Given the description of an element on the screen output the (x, y) to click on. 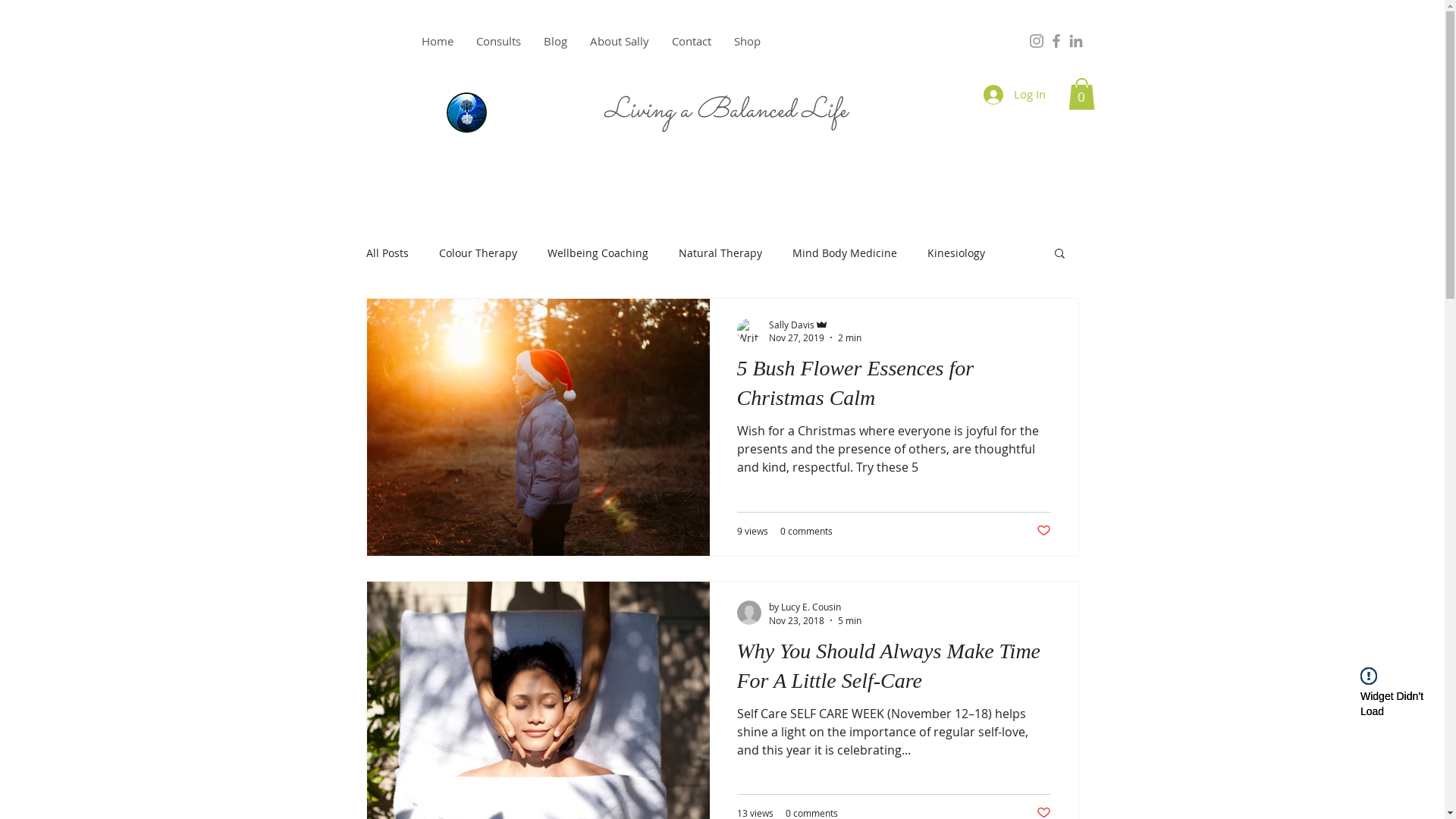
All Posts Element type: text (386, 252)
5 Bush Flower Essences for Christmas Calm Element type: text (894, 386)
Wellbeing Coaching Element type: text (597, 252)
sally labl logo small.png Element type: hover (465, 112)
Post not marked as liked Element type: text (1042, 530)
Contact Element type: text (690, 40)
Consults Element type: text (497, 40)
About Sally Element type: text (618, 40)
by Lucy E. Cousin Element type: text (814, 606)
0 comments Element type: text (805, 530)
Blog Element type: text (555, 40)
Kinesiology Element type: text (955, 252)
Shop Element type: text (746, 40)
Natural Therapy Element type: text (719, 252)
Colour Therapy Element type: text (477, 252)
Mind Body Medicine Element type: text (843, 252)
0 Element type: text (1080, 93)
Log In Element type: text (1013, 94)
Home Element type: text (436, 40)
Why You Should Always Make Time For A Little Self-Care Element type: text (894, 669)
Sally Davis Element type: text (814, 323)
